Given the description of an element on the screen output the (x, y) to click on. 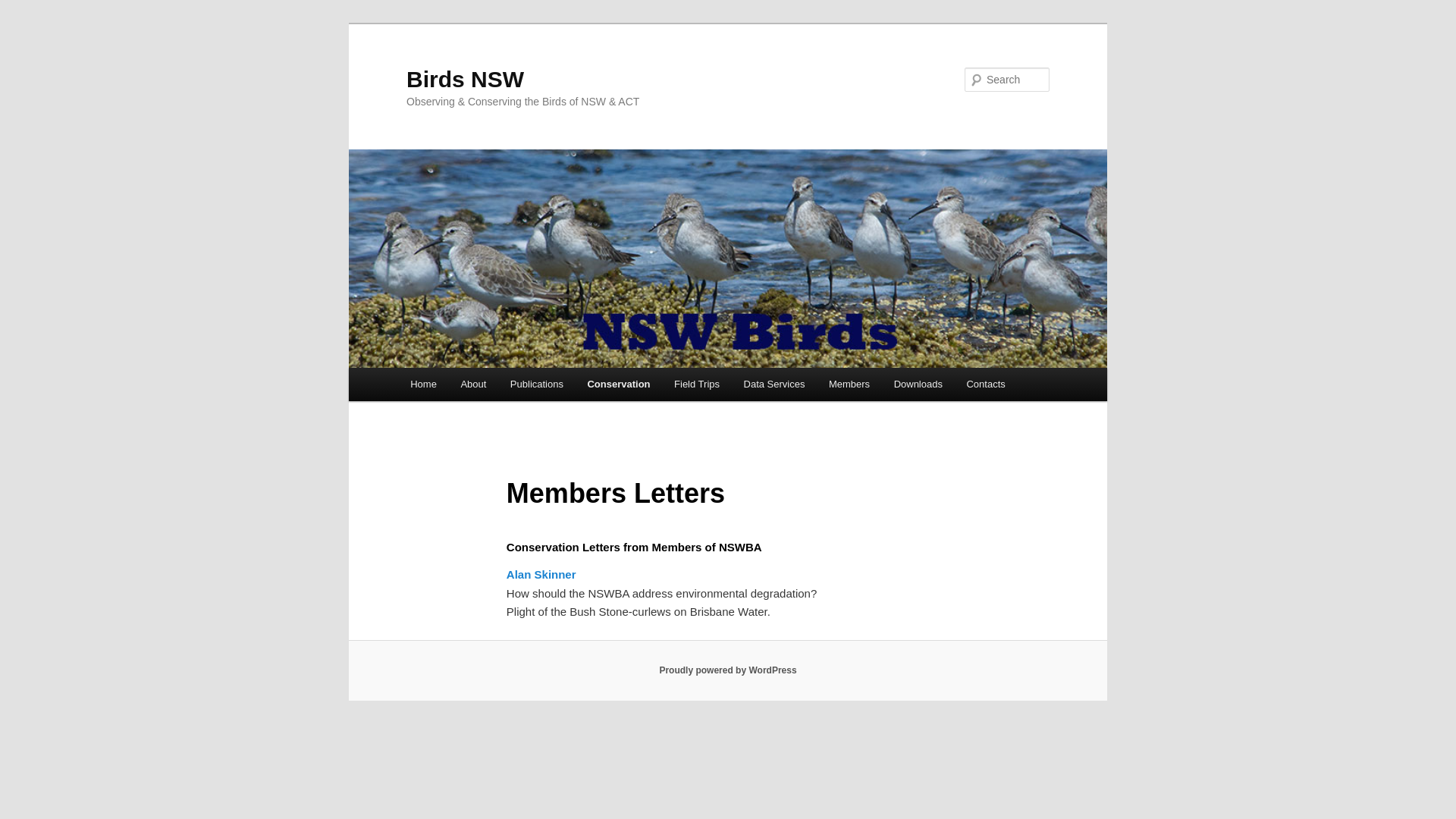
Data Services Element type: text (773, 383)
Downloads Element type: text (917, 383)
About Element type: text (473, 383)
Skip to primary content Element type: text (22, 22)
Home Element type: text (423, 383)
Members Element type: text (848, 383)
Publications Element type: text (536, 383)
Alan Skinner Element type: text (541, 573)
Proudly powered by WordPress Element type: text (727, 670)
Conservation Element type: text (618, 383)
Contacts Element type: text (985, 383)
Field Trips Element type: text (696, 383)
Search Element type: text (24, 8)
Birds NSW Element type: text (465, 78)
